Given the description of an element on the screen output the (x, y) to click on. 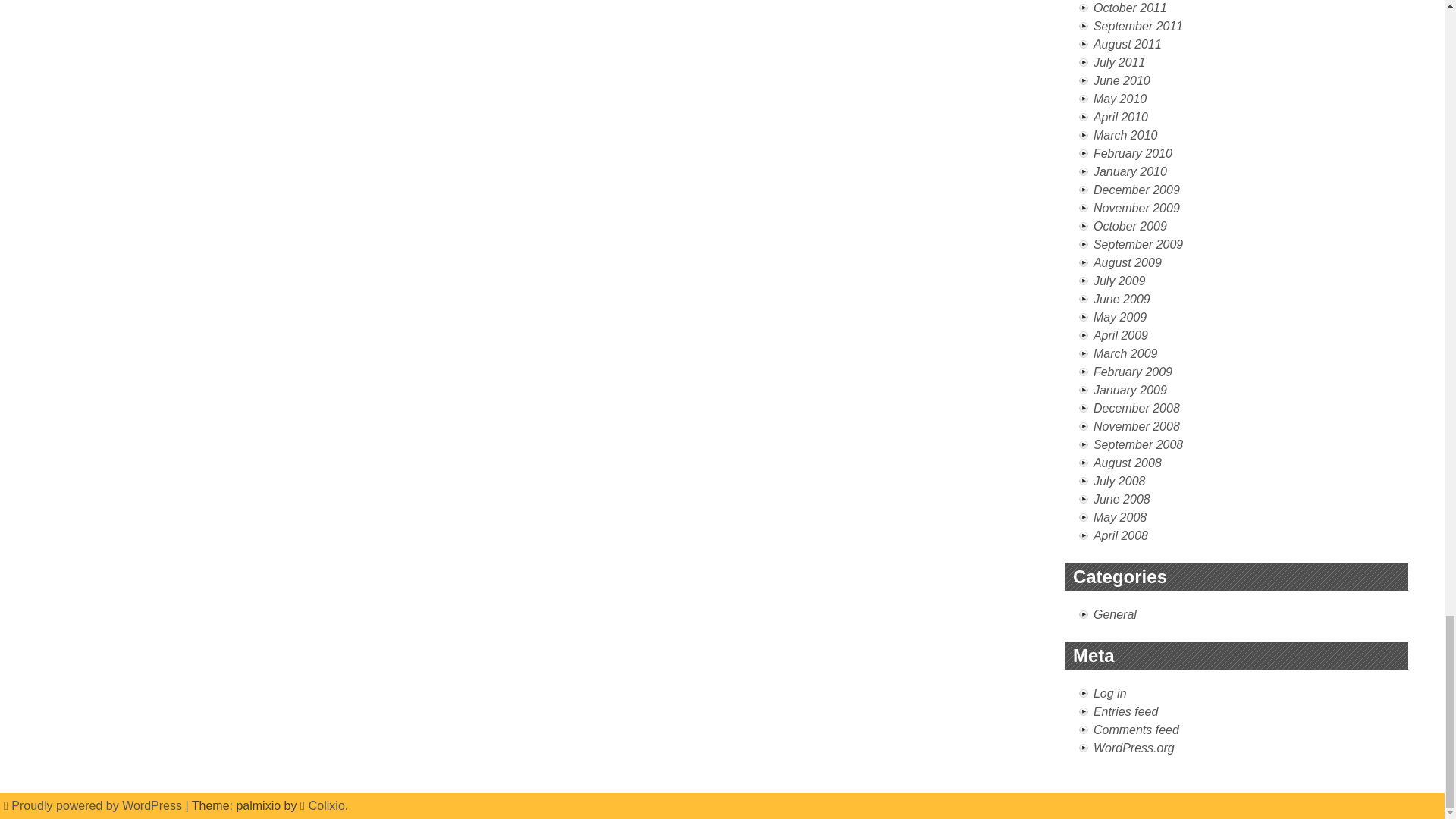
Colixio (326, 805)
